Given the description of an element on the screen output the (x, y) to click on. 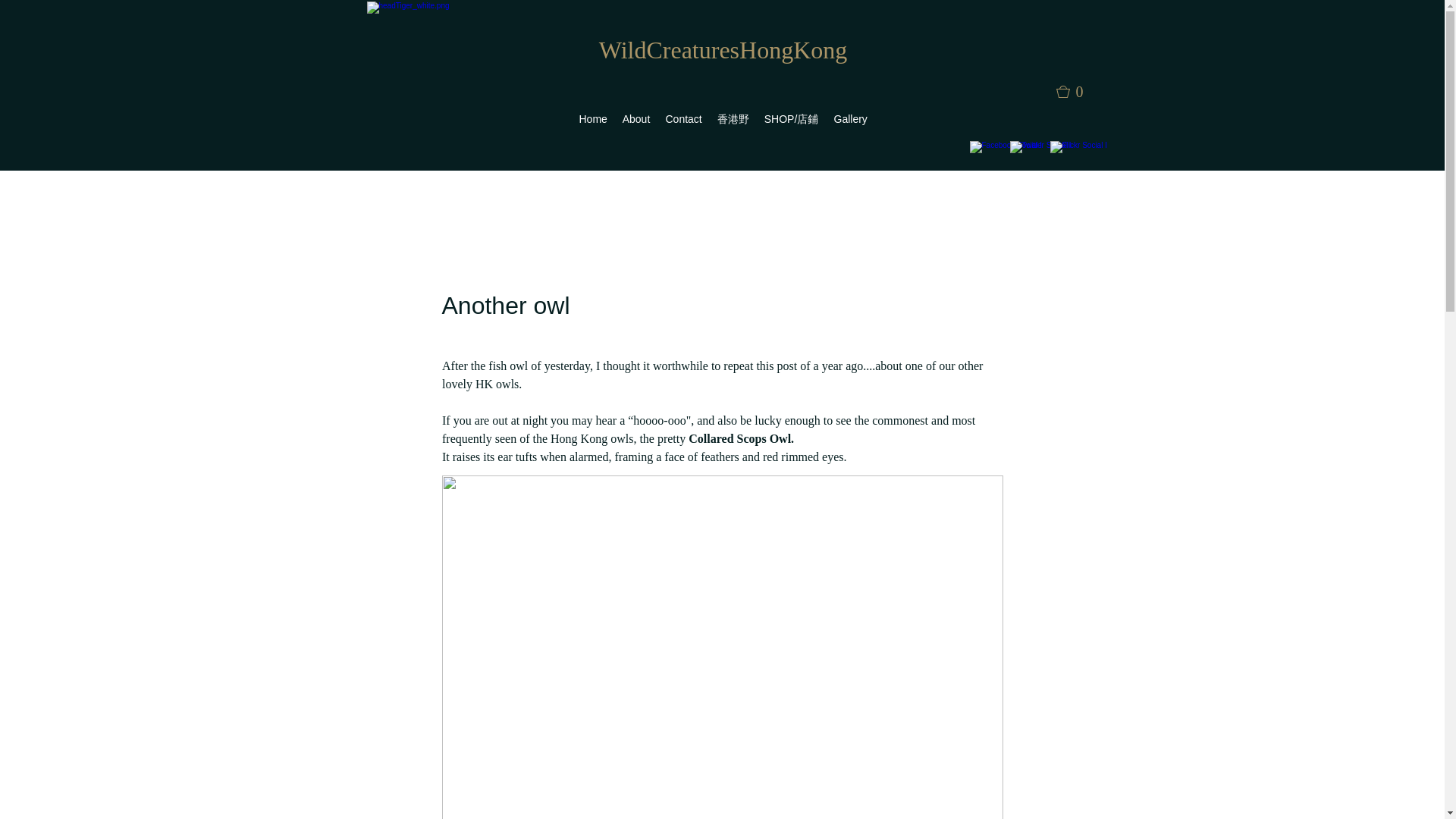
WildCreaturesHongKong (722, 49)
Contact (684, 118)
About (636, 118)
Home (593, 118)
Gallery (851, 118)
